Given the description of an element on the screen output the (x, y) to click on. 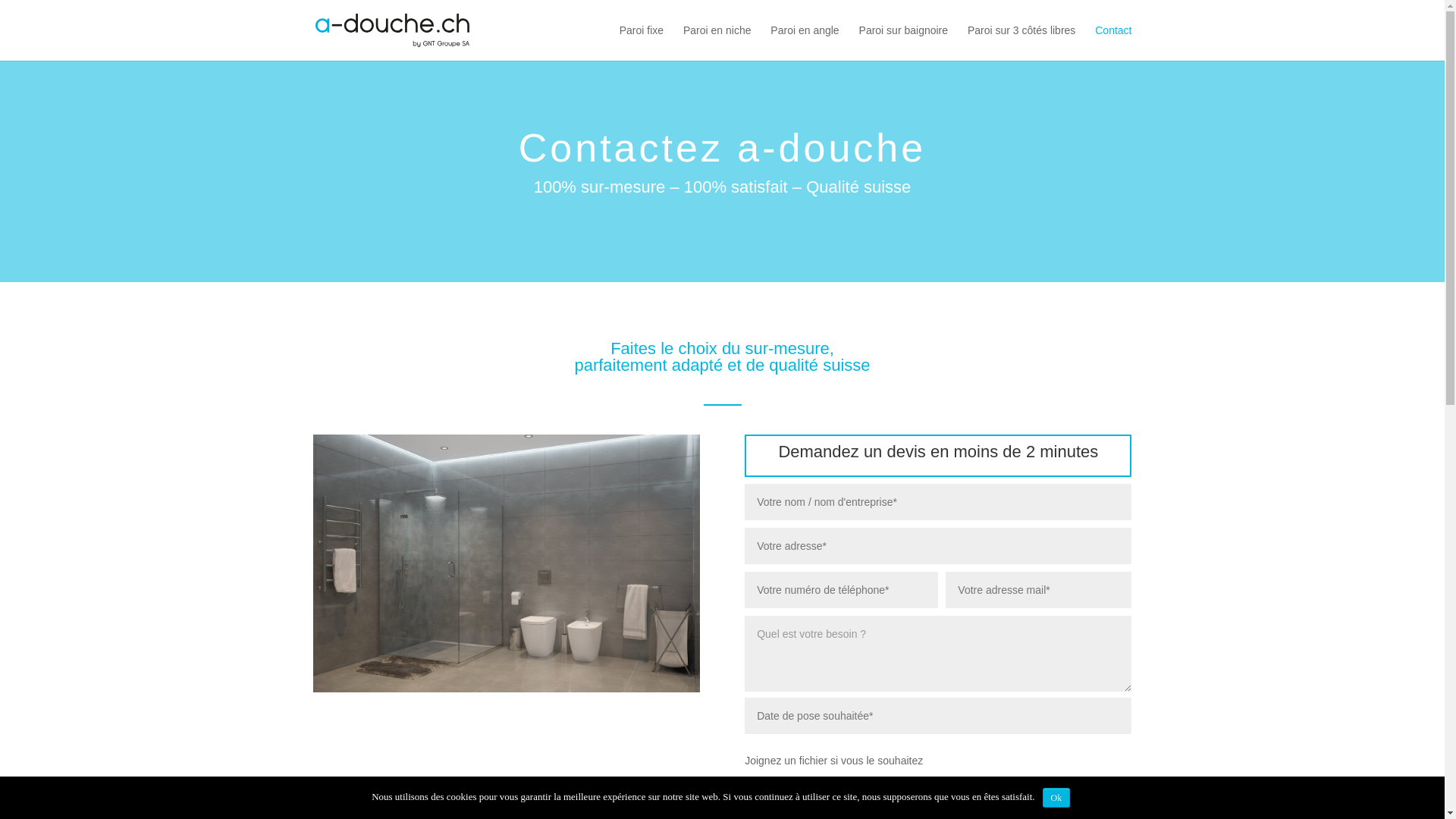
Paroi en angle Element type: text (804, 42)
Paroi sur baignoire Element type: text (903, 42)
Paroi en niche Element type: text (717, 42)
Contact Element type: text (1113, 42)
Paroi fixe Element type: text (641, 42)
Ok Element type: text (1056, 797)
